Given the description of an element on the screen output the (x, y) to click on. 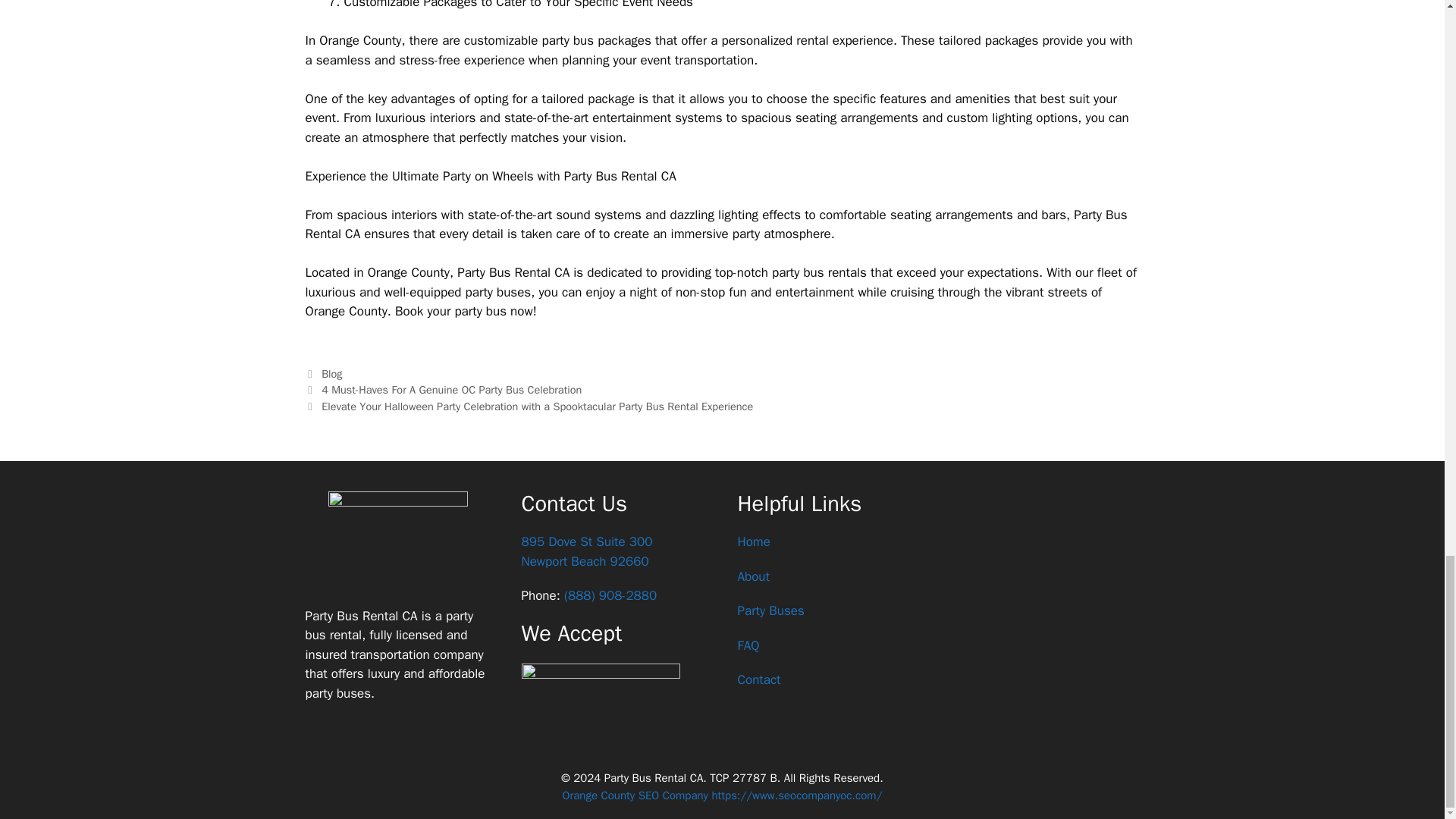
FAQ (747, 645)
Home (586, 551)
Blog (753, 541)
Party Buses (331, 373)
About (769, 610)
Contact (752, 576)
4 Must-Haves For A Genuine OC Party Bus Celebration (758, 679)
